Given the description of an element on the screen output the (x, y) to click on. 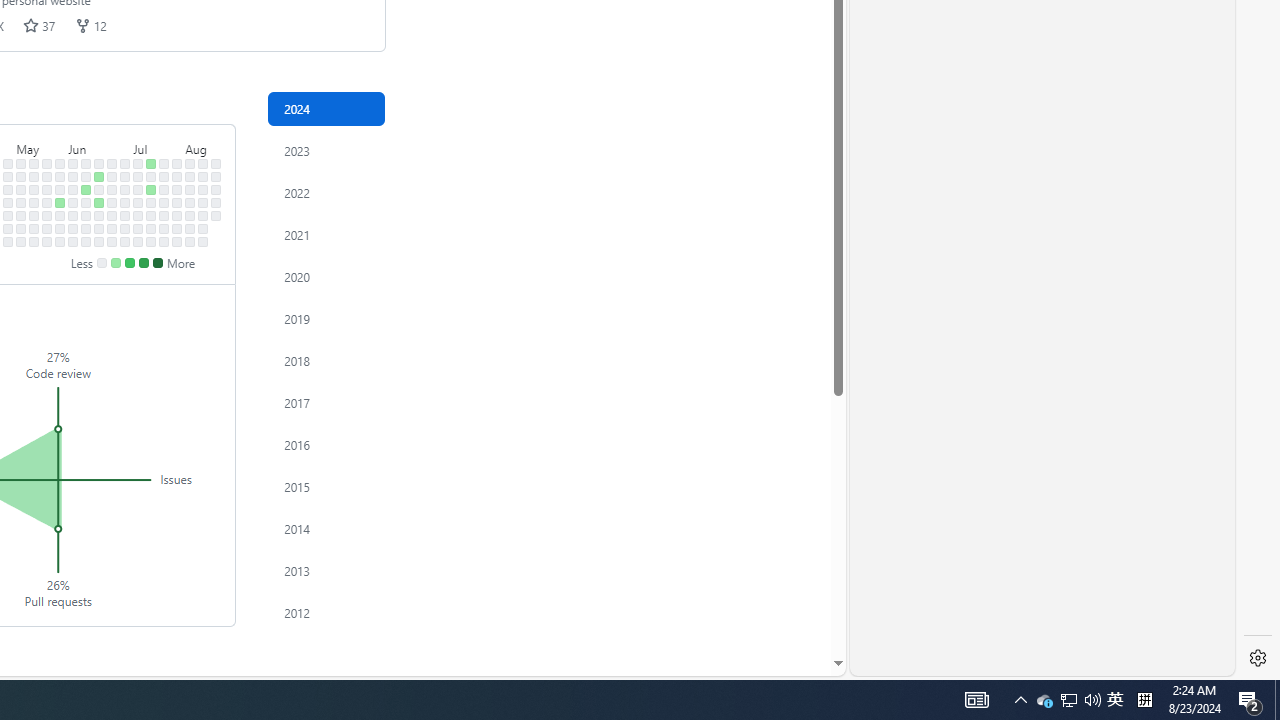
No contributions on May 31st. (60, 228)
No contributions on August 5th. (190, 176)
No contributions on August 14th. (203, 202)
No contributions on June 15th. (86, 241)
Contribution activity in 2012 (326, 612)
Contribution activity in 2014 (326, 528)
No contributions on May 25th. (47, 241)
No contributions on August 12th. (203, 176)
No contributions on July 22nd. (164, 176)
No contributions on August 4th. (190, 163)
No contributions on July 15th. (151, 176)
No contributions on May 18th. (34, 241)
No contributions on July 27th. (164, 241)
Contribution activity in 2021 (326, 233)
